Given the description of an element on the screen output the (x, y) to click on. 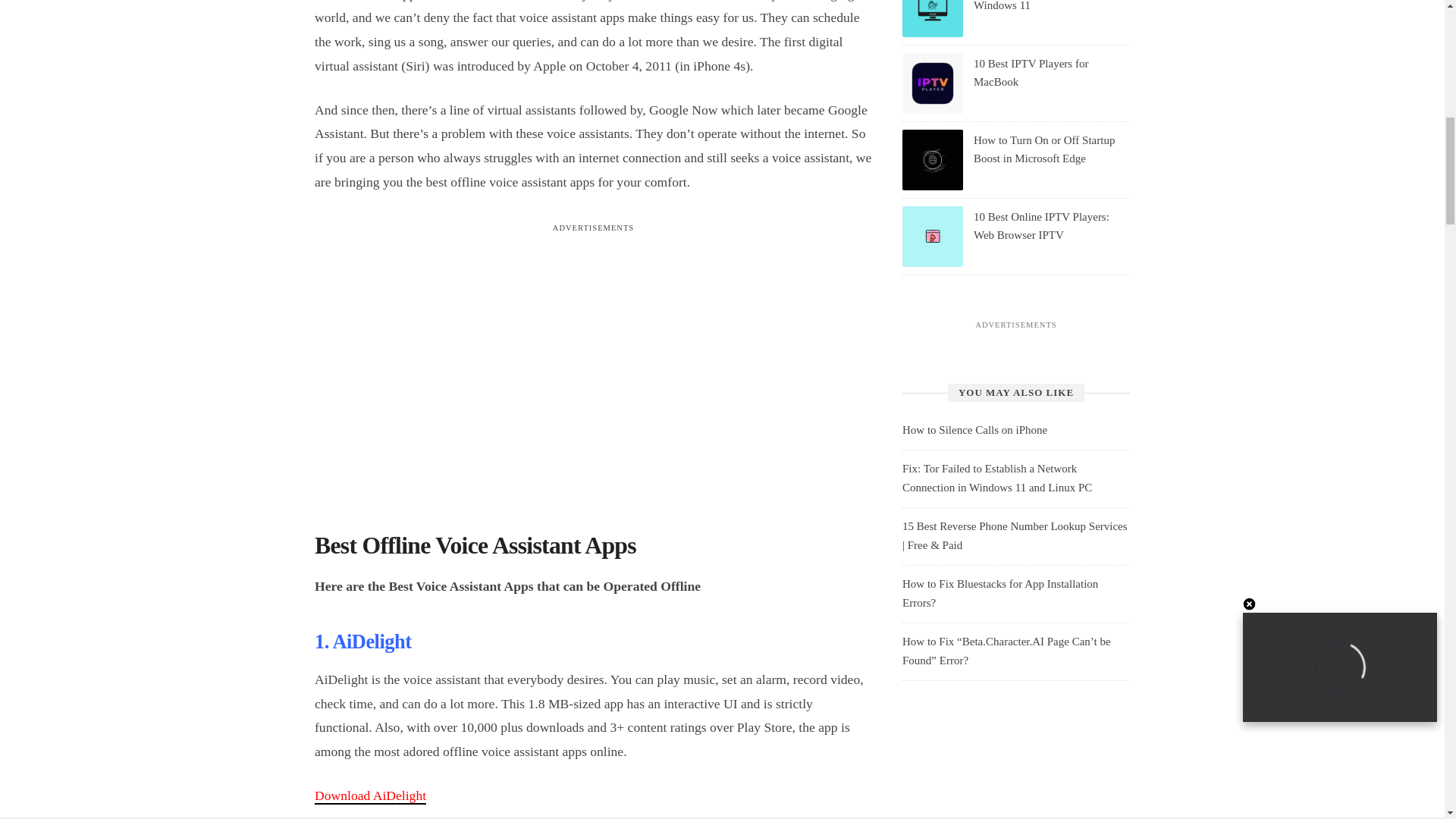
Download AiDelight (370, 795)
